Given the description of an element on the screen output the (x, y) to click on. 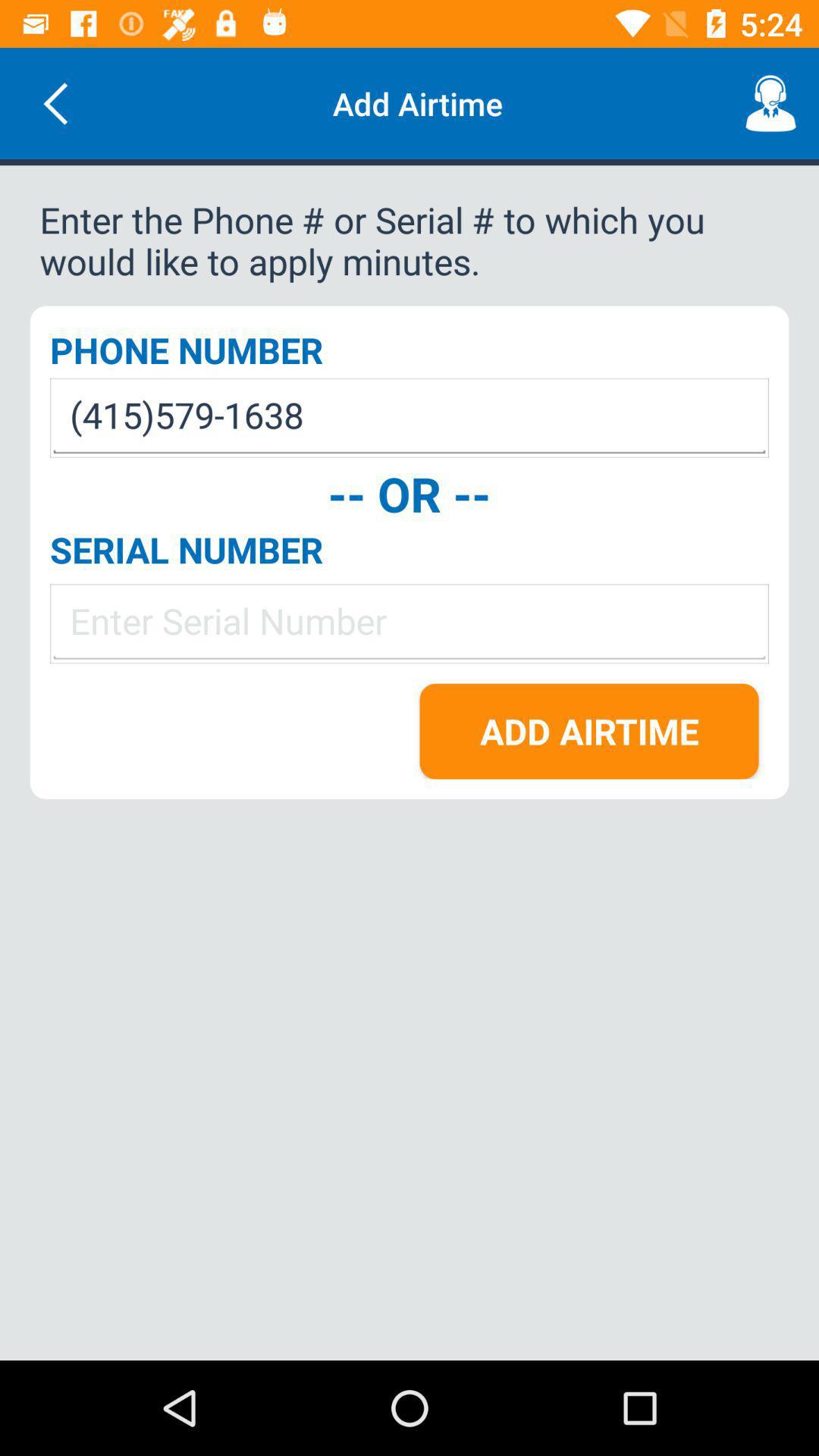
open the icon next to add airtime item (55, 103)
